Given the description of an element on the screen output the (x, y) to click on. 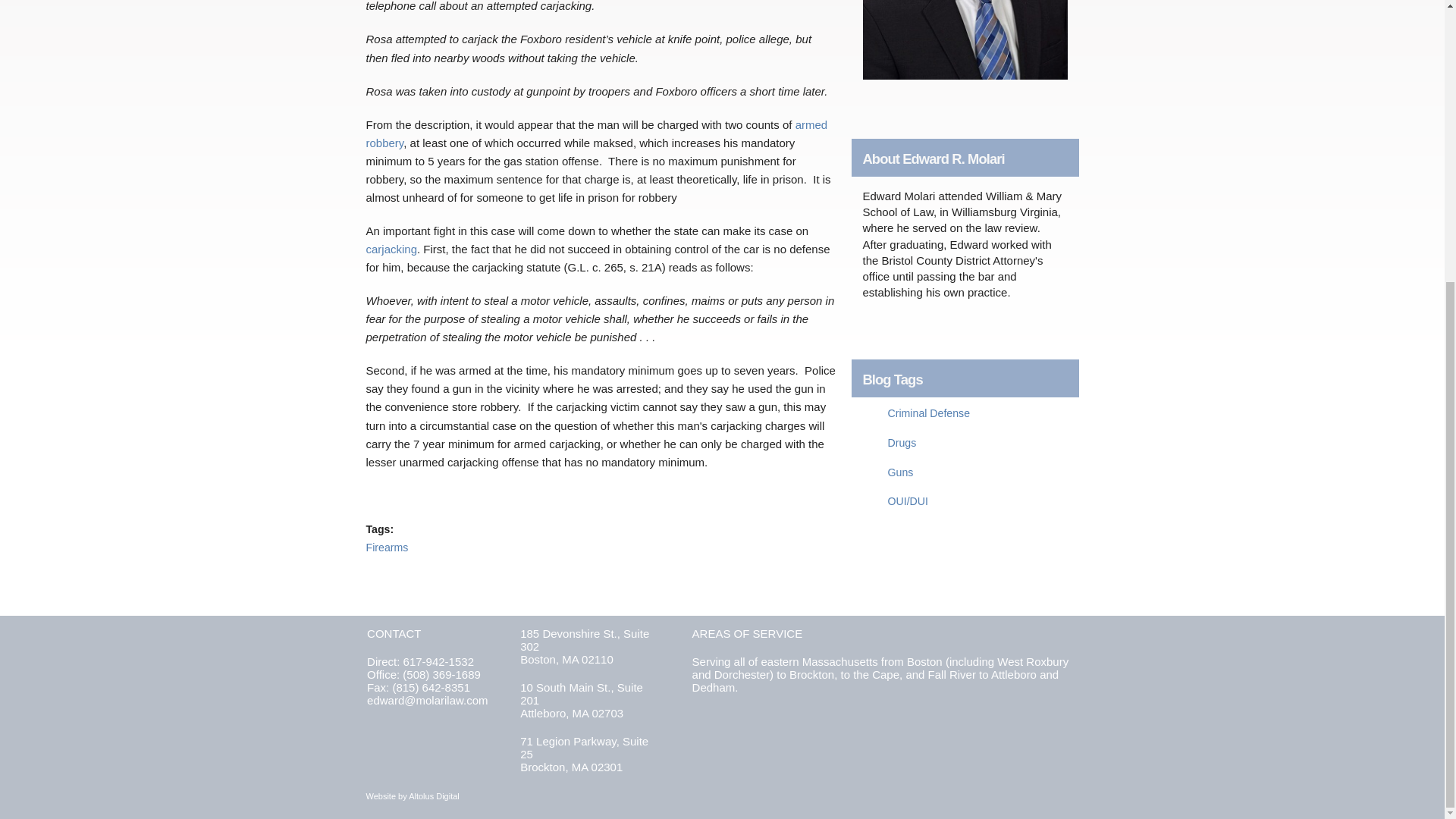
Firearms (386, 547)
Website by Altolus Digital (411, 795)
armed robbery (596, 133)
Criminal Defense (927, 413)
Drugs (900, 442)
carjacking (390, 248)
Drug Crimes (900, 442)
Guns (899, 472)
Gun Crimes (899, 472)
